Given the description of an element on the screen output the (x, y) to click on. 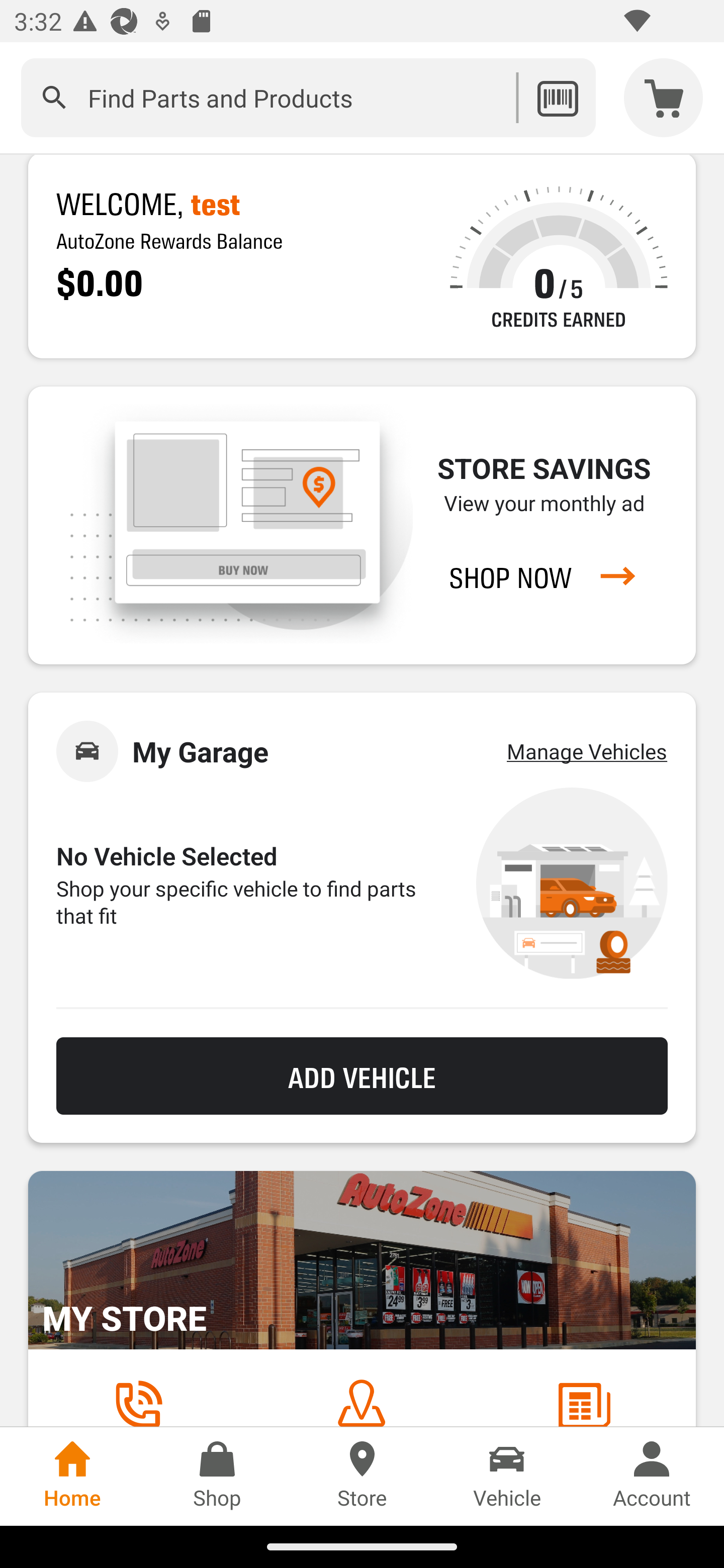
 scan-product-to-search  (557, 97)
 (54, 97)
Cart, no items  (663, 97)
Manage Vehicles (586, 750)
ADD VEHICLE (361, 1076)
Call Store  (138, 1402)
Directions  (361, 1402)
Store Info  (584, 1402)
Home (72, 1475)
Shop (216, 1475)
Store (361, 1475)
Vehicle (506, 1475)
Account (651, 1475)
